Given the description of an element on the screen output the (x, y) to click on. 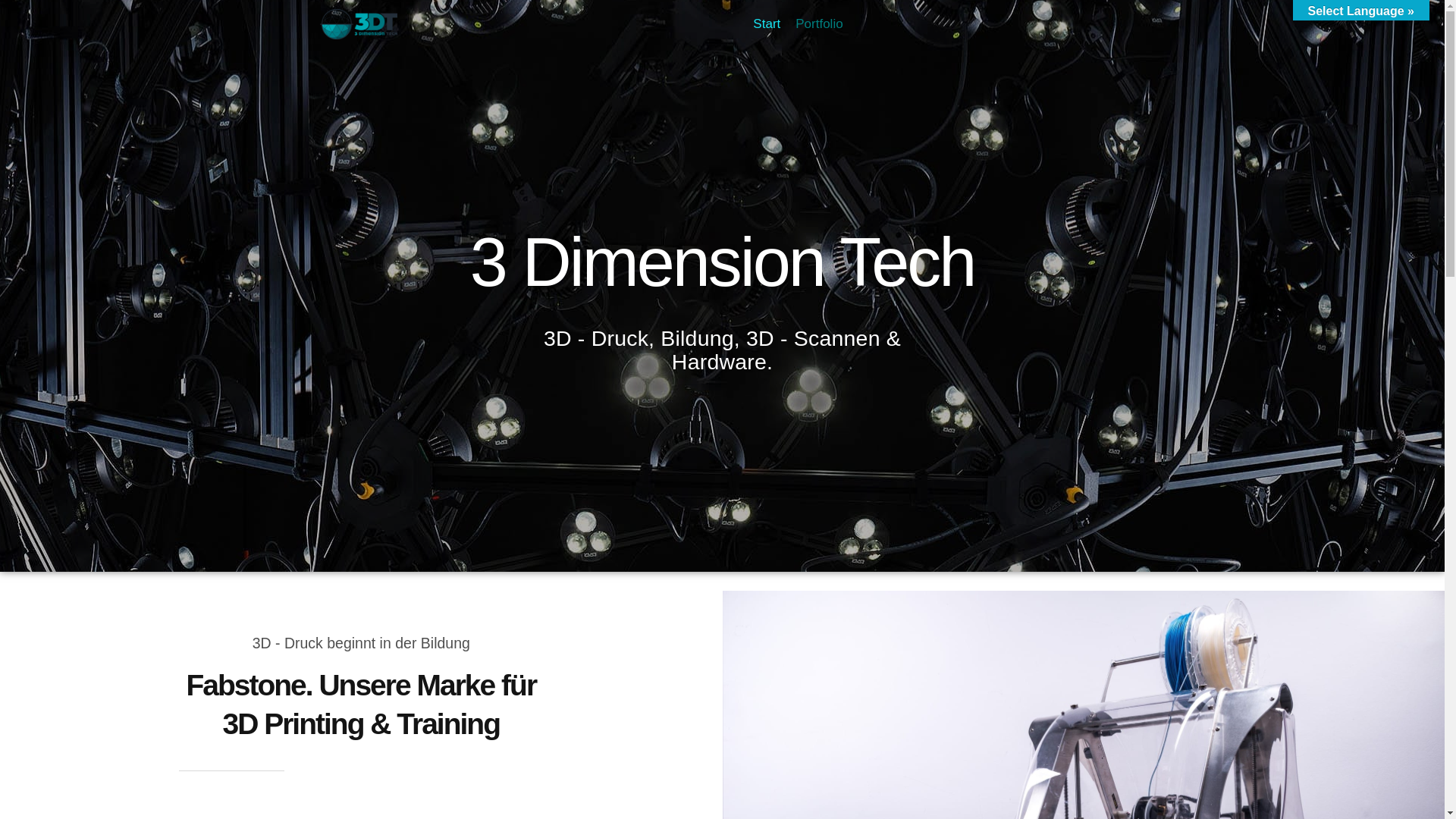
3 Dimension Tech Element type: hover (357, 24)
Portfolio Element type: text (818, 24)
Start Element type: text (766, 24)
